Given the description of an element on the screen output the (x, y) to click on. 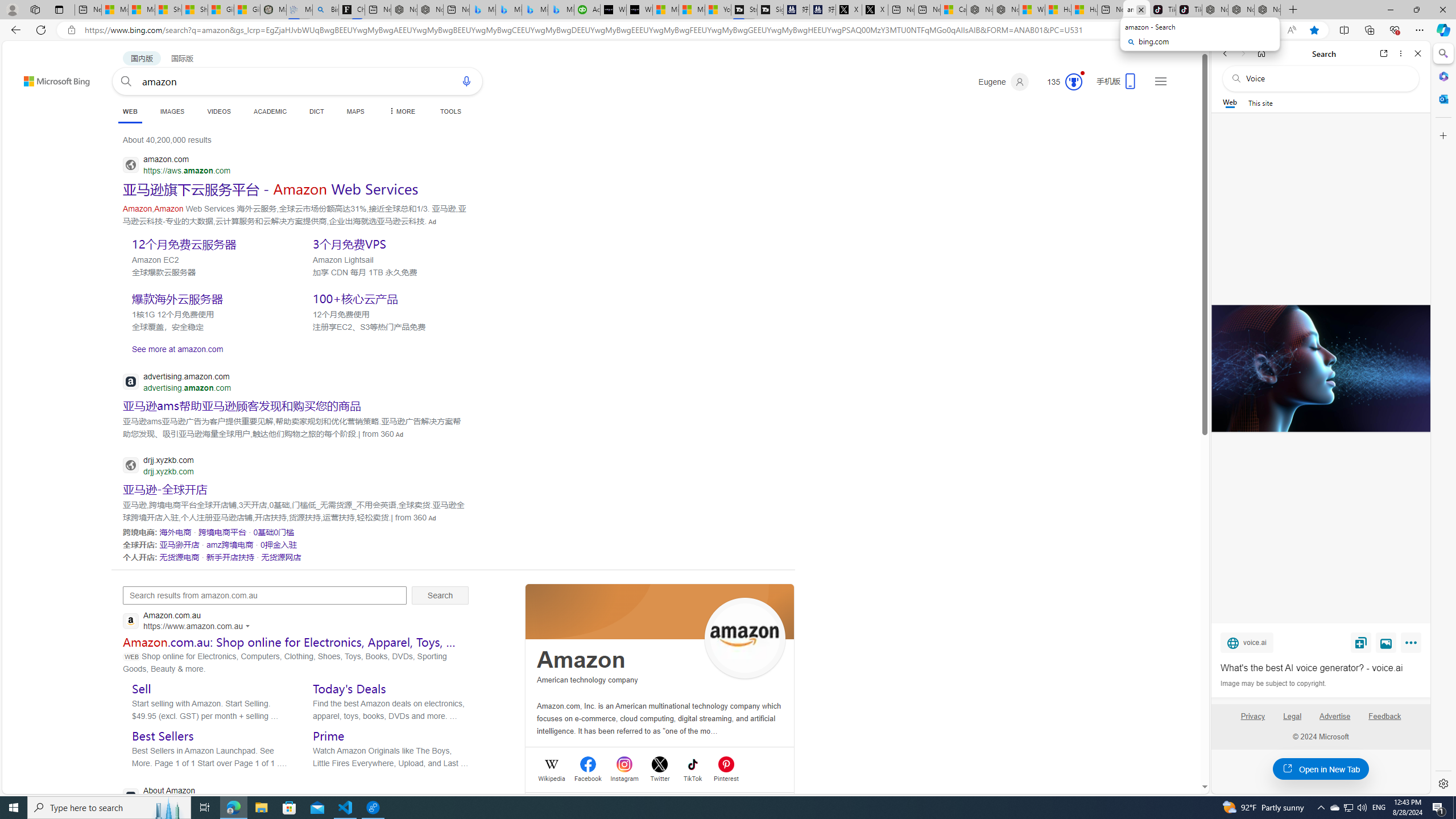
Manatee Mortality Statistics | FWC (272, 9)
Nordace - Siena Pro 15 Essential Set (1267, 9)
Advertise (1334, 720)
Settings (1442, 783)
See more at amazon.com (295, 348)
Huge shark washes ashore at New York City beach | Watch (1083, 9)
This site scope (1259, 102)
Accounting Software for Accountants, CPAs and Bookkeepers (587, 9)
